Given the description of an element on the screen output the (x, y) to click on. 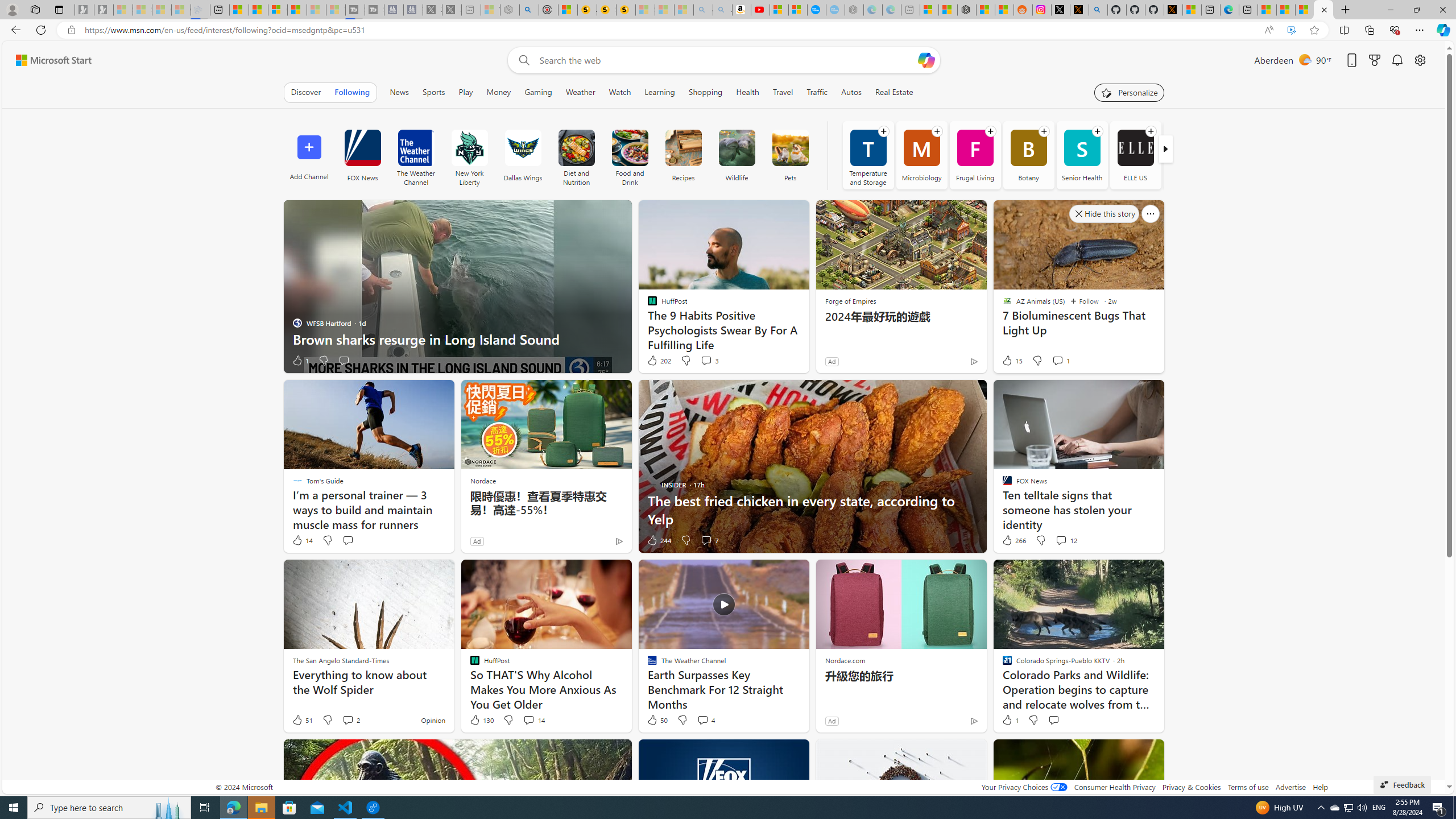
Shopping (705, 92)
View comments 7 Comment (709, 539)
Opinion: Op-Ed and Commentary - USA TODAY (816, 9)
Diet and Nutrition (576, 147)
View comments 1 Comment (1060, 360)
Nordace.com (845, 660)
amazon - Search - Sleeping (702, 9)
Health (747, 92)
New York Liberty (469, 147)
Microsoft account | Microsoft Account Privacy Settings (929, 9)
View comments 3 Comment (709, 360)
